Given the description of an element on the screen output the (x, y) to click on. 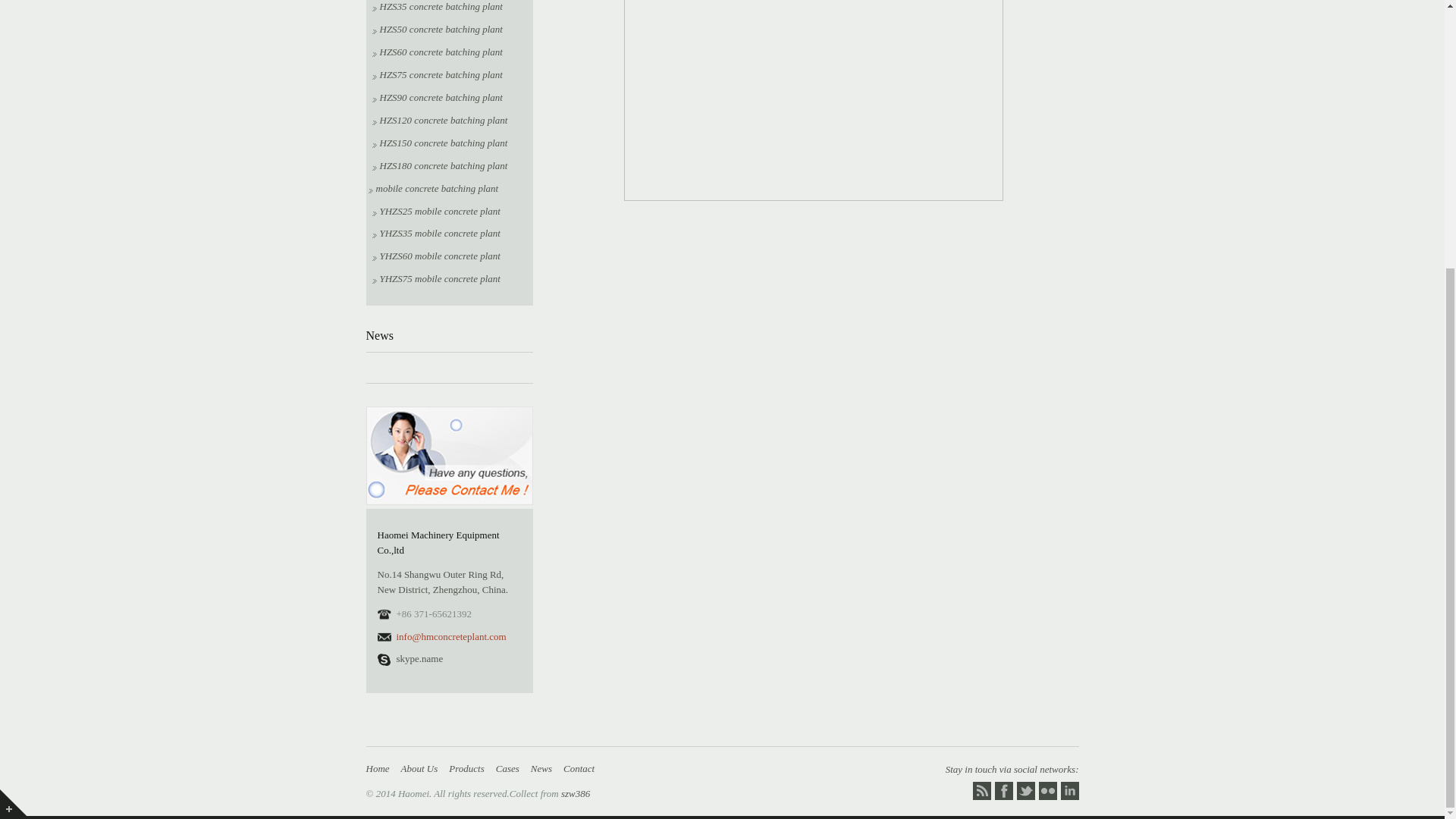
HZS35 concrete batching plant (436, 6)
HZS150 concrete batching plant (438, 142)
concrete plant (574, 793)
HZS120 concrete batching plant (438, 120)
mobile concrete batching plant (433, 188)
YHZS60 mobile concrete plant (435, 255)
HZS75 concrete batching plant (436, 74)
HZS50 concrete batching plant (436, 29)
HZS90 concrete batching plant (436, 97)
YHZS75 mobile concrete plant (435, 278)
